Given the description of an element on the screen output the (x, y) to click on. 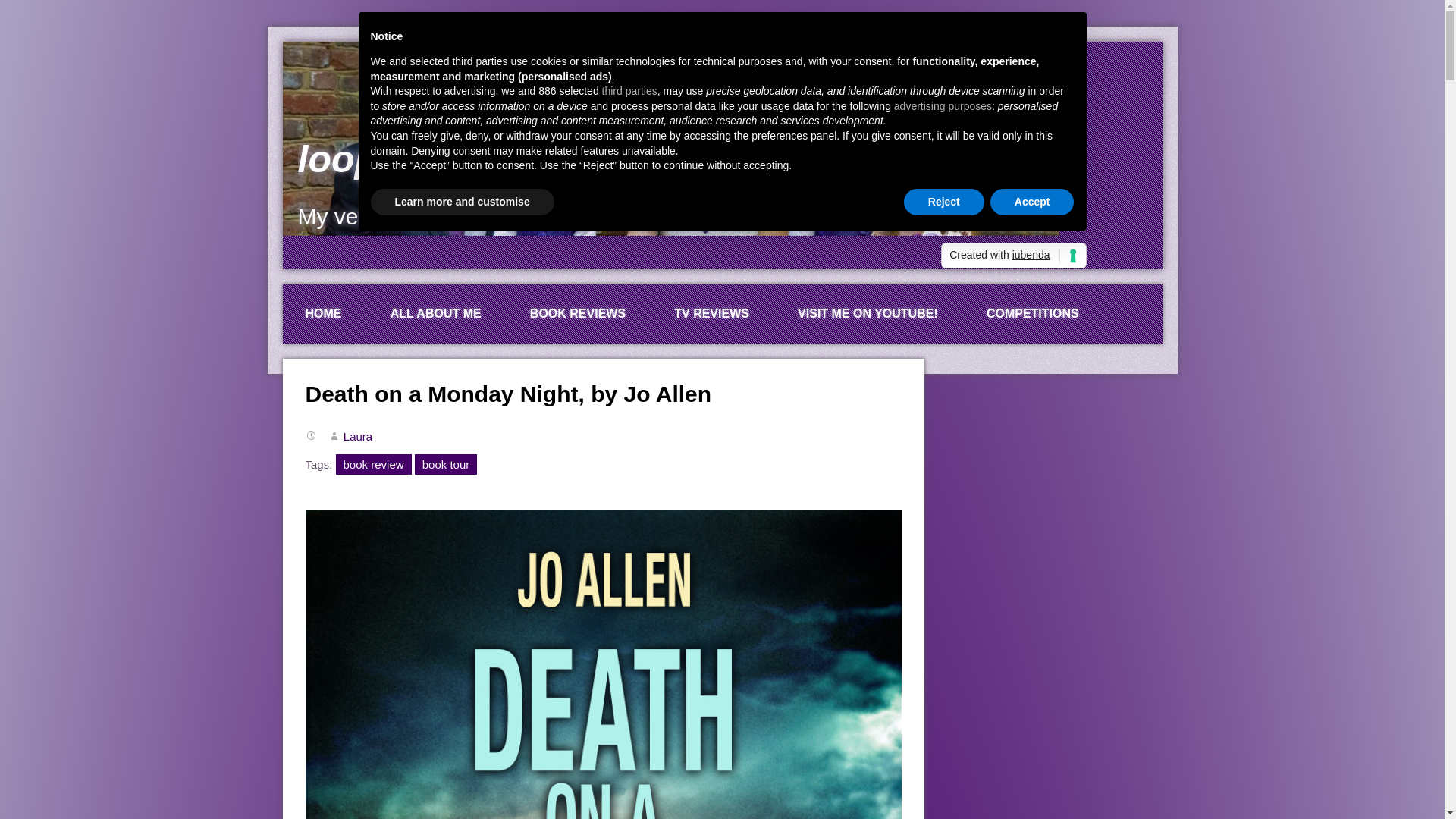
COMPETITIONS (1032, 313)
HOME (323, 313)
book review (374, 464)
Permalink to Death on a Monday Night, by Jo Allen (507, 393)
loopyloulaura (421, 159)
ALL ABOUT ME (435, 313)
VISIT ME ON YOUTUBE! (867, 313)
View all posts by Laura (357, 436)
loopyloulaura (421, 159)
Laura (357, 436)
